Given the description of an element on the screen output the (x, y) to click on. 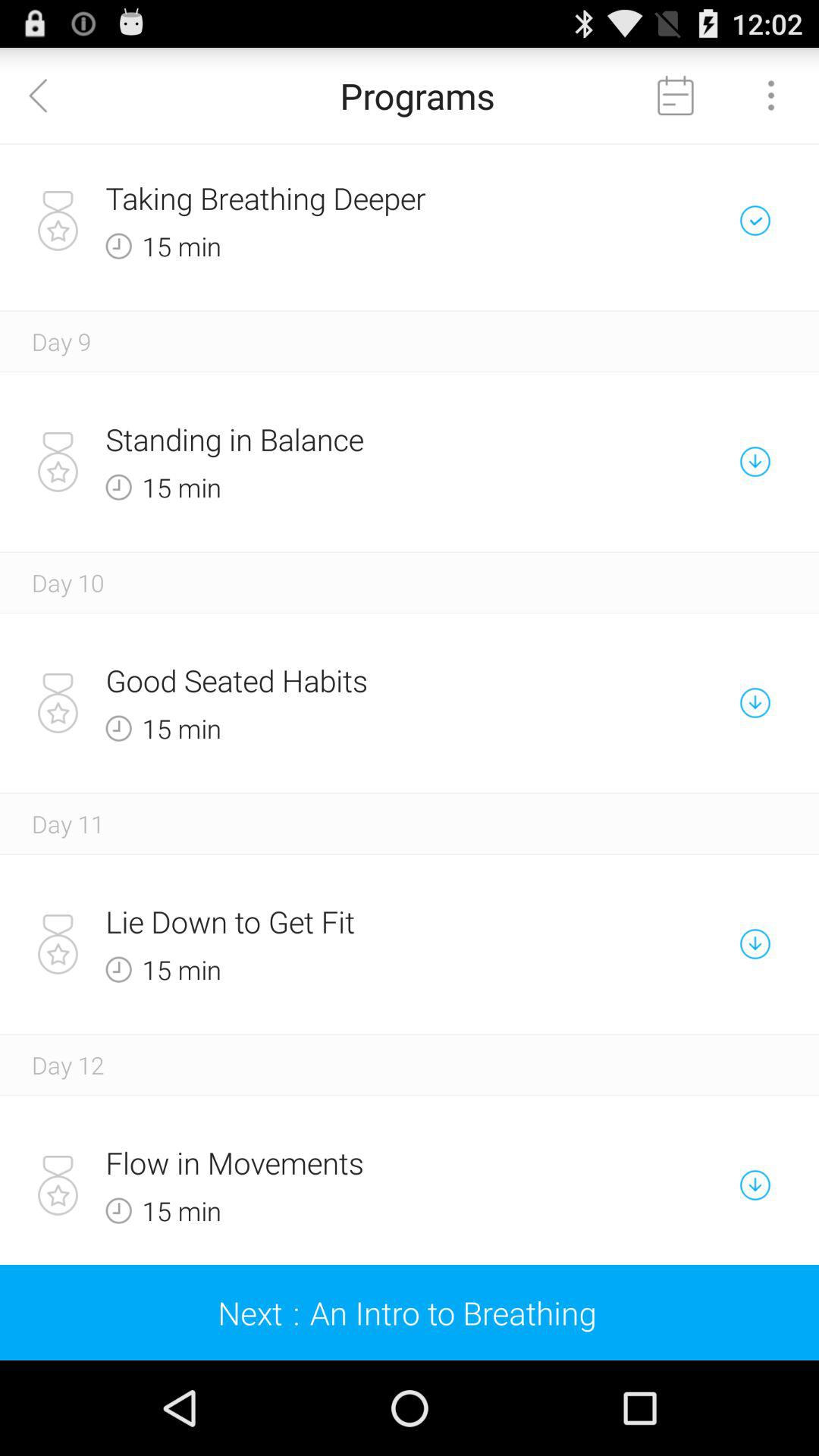
go to previous (47, 95)
